Given the description of an element on the screen output the (x, y) to click on. 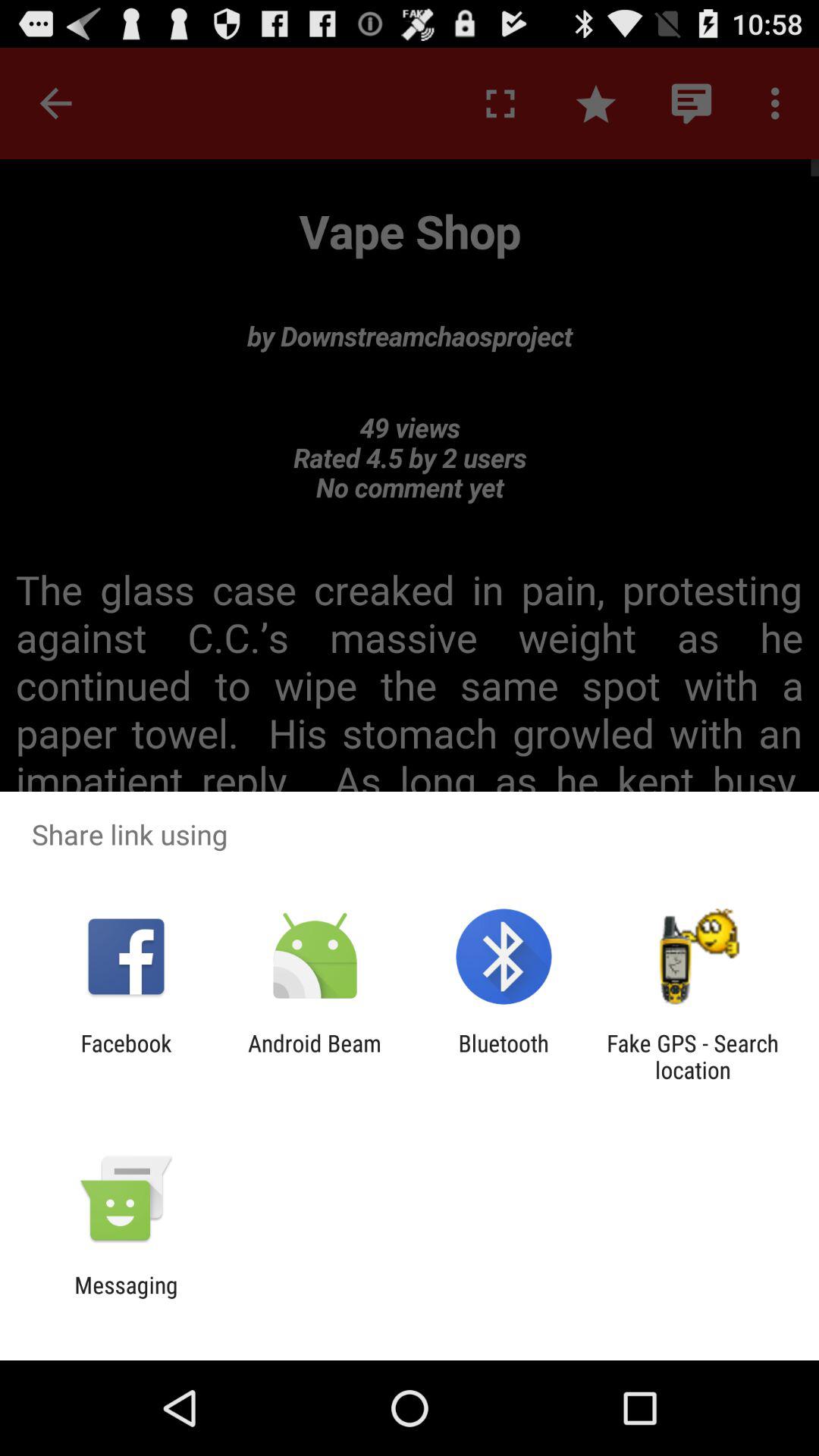
tap the icon next to the bluetooth item (314, 1056)
